Given the description of an element on the screen output the (x, y) to click on. 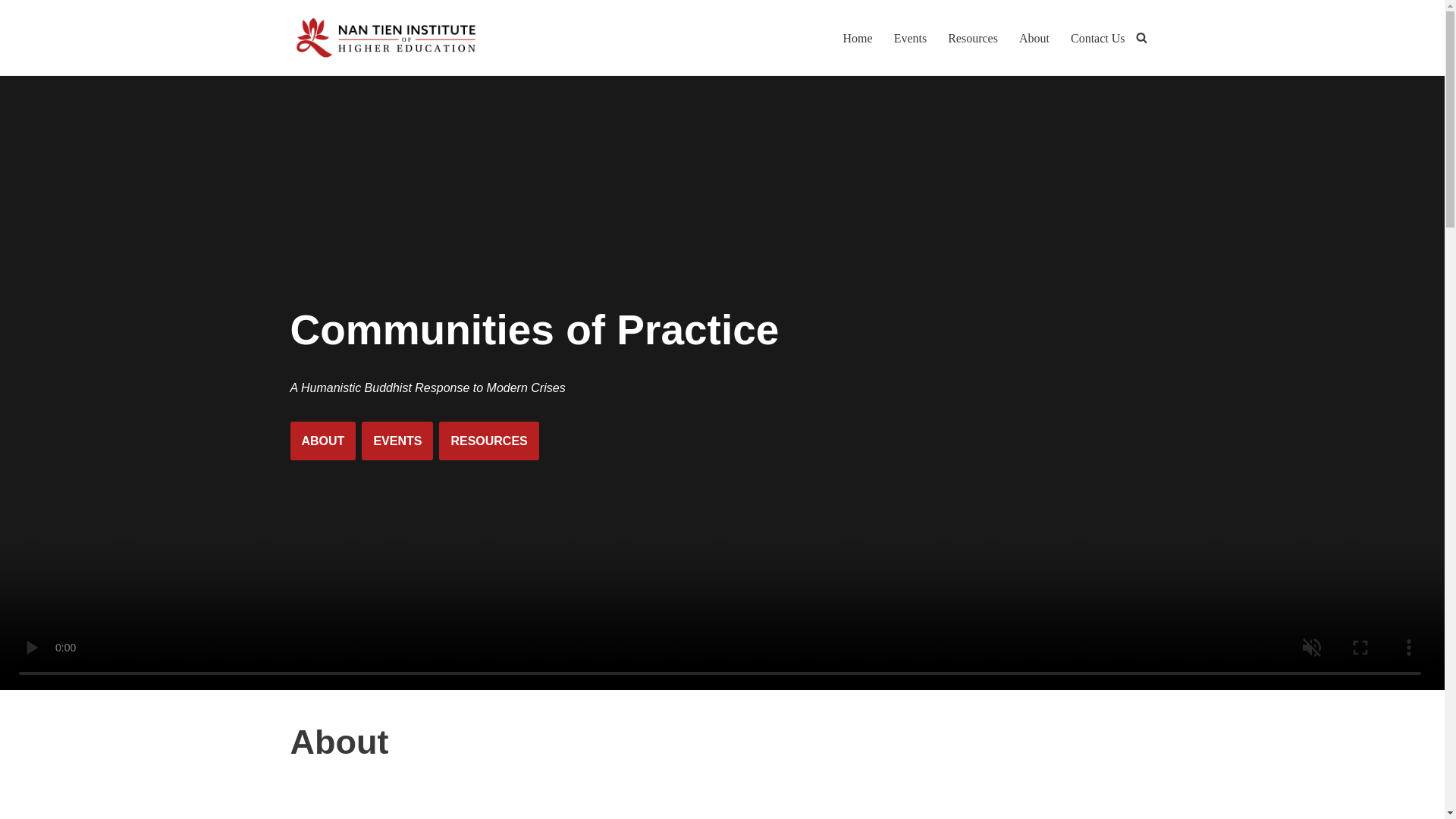
Resources (972, 37)
RESOURCES (488, 441)
ABOUT (322, 441)
EVENTS (396, 441)
Events (910, 37)
Home (857, 37)
Contact Us (1097, 37)
Skip to content (11, 31)
About (1034, 37)
